Given the description of an element on the screen output the (x, y) to click on. 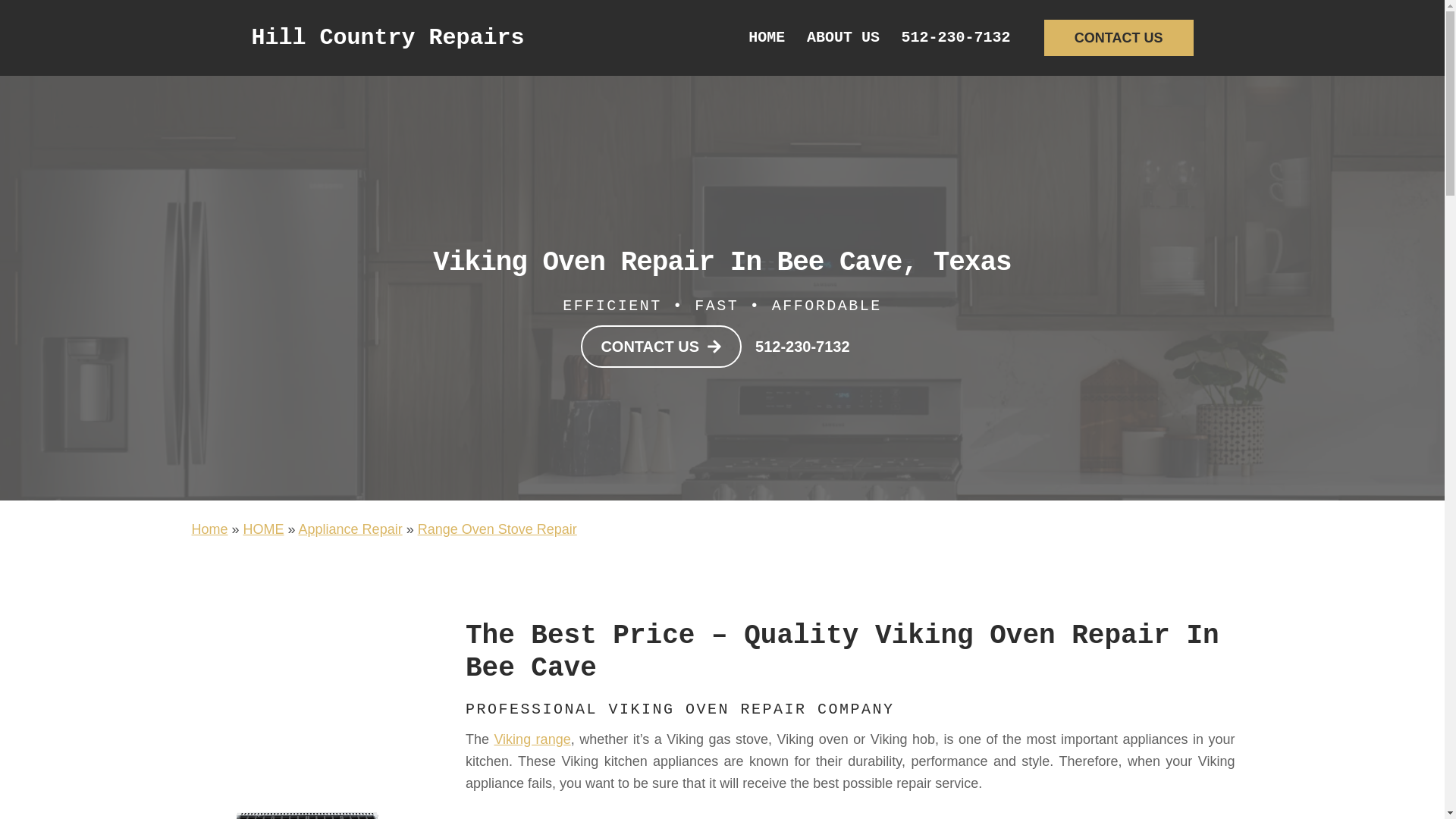
HOME (767, 37)
Range Oven Stove Repair (496, 529)
512-230-7132 (955, 37)
Appliance Repair (350, 529)
Home (208, 529)
CONTACT US (1118, 37)
HOME (263, 529)
512-230-7132 (802, 346)
Hill Country Repairs (387, 37)
CONTACT US (660, 346)
Viking range (531, 739)
ABOUT US (843, 37)
